Given the description of an element on the screen output the (x, y) to click on. 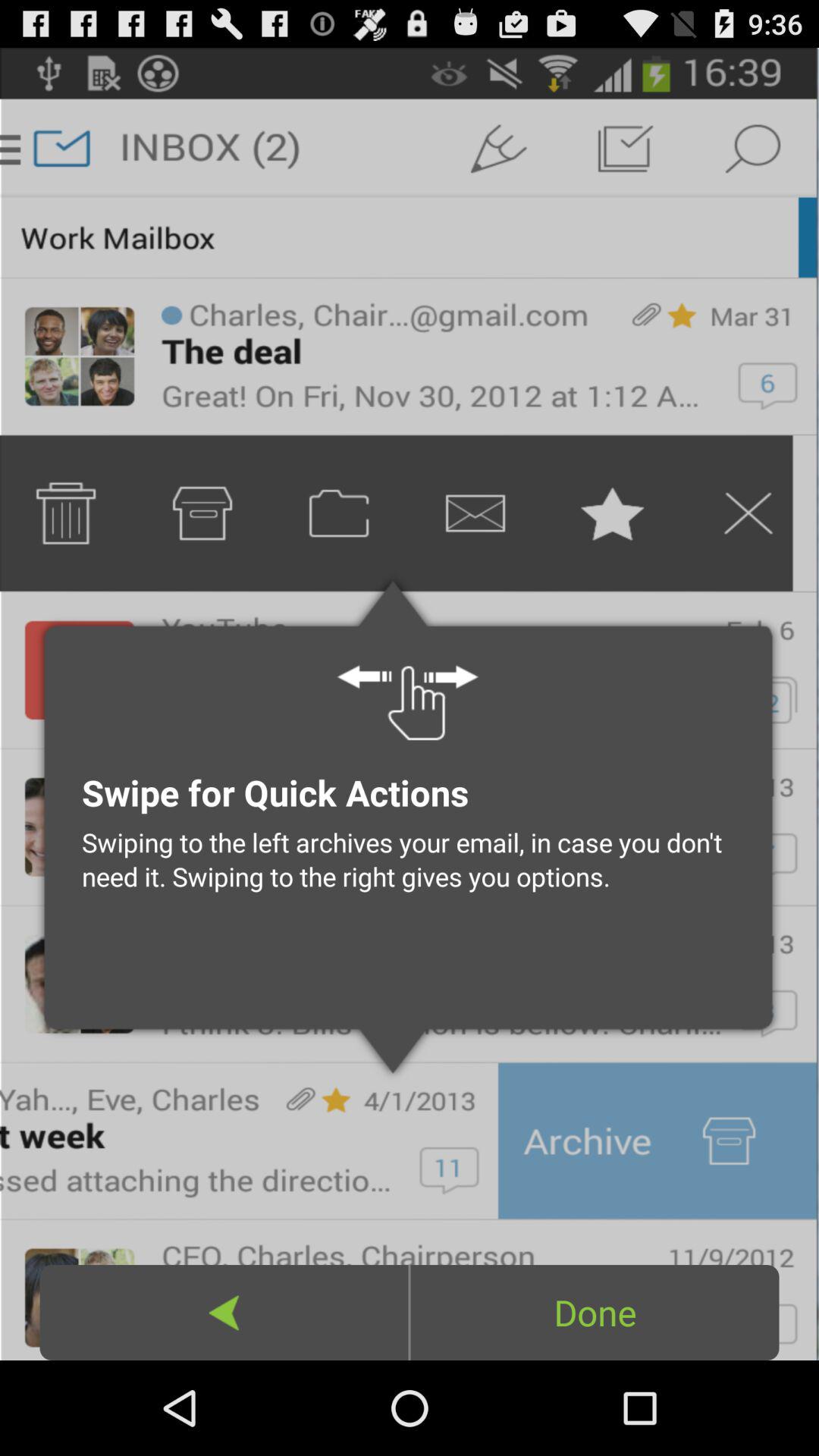
click the icon below swiping to the app (594, 1312)
